Given the description of an element on the screen output the (x, y) to click on. 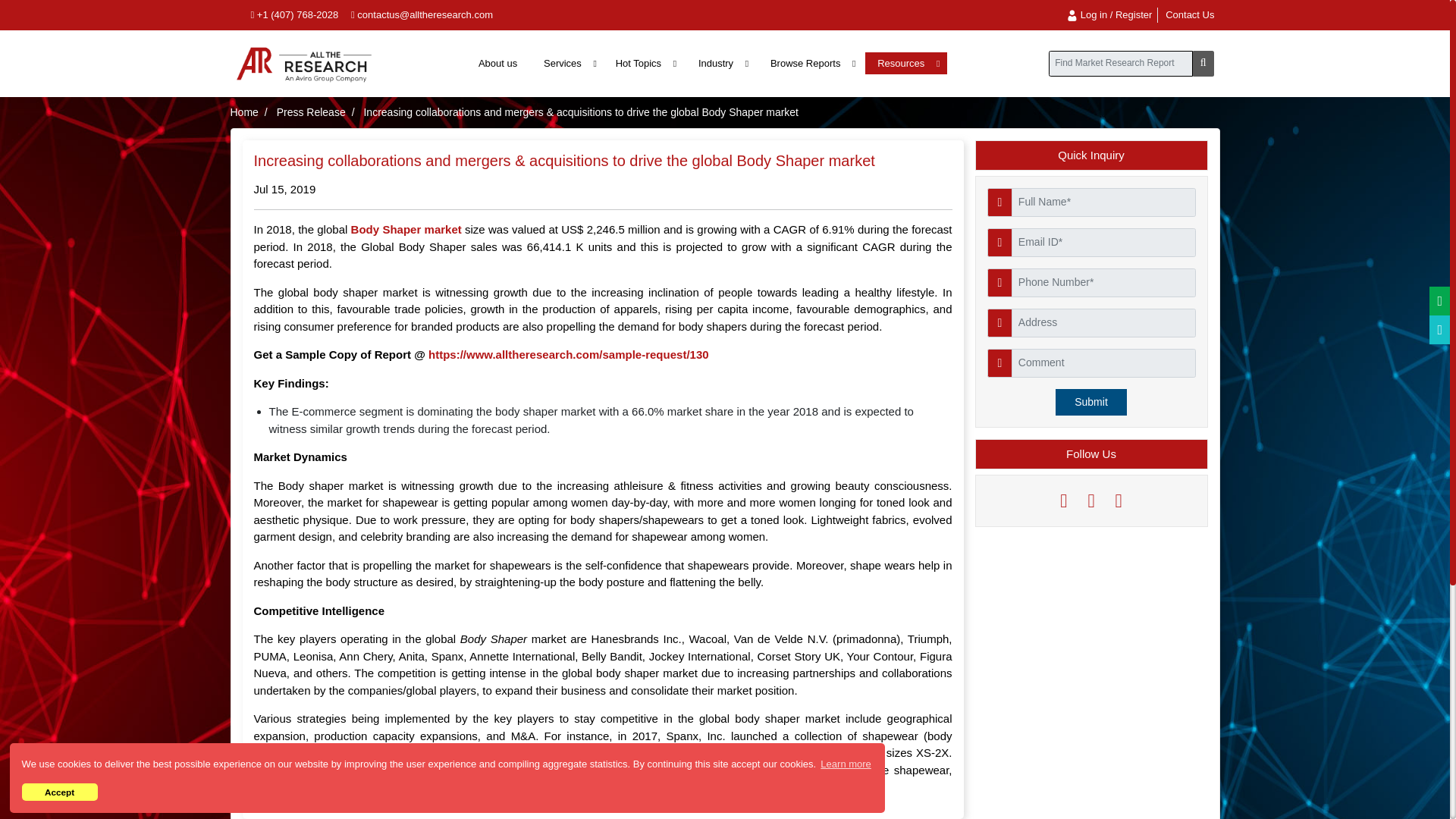
Contact Us (1190, 14)
About us (497, 62)
Accept (59, 791)
Learn more (845, 763)
Services (567, 62)
AllTheResearch (303, 62)
